Given the description of an element on the screen output the (x, y) to click on. 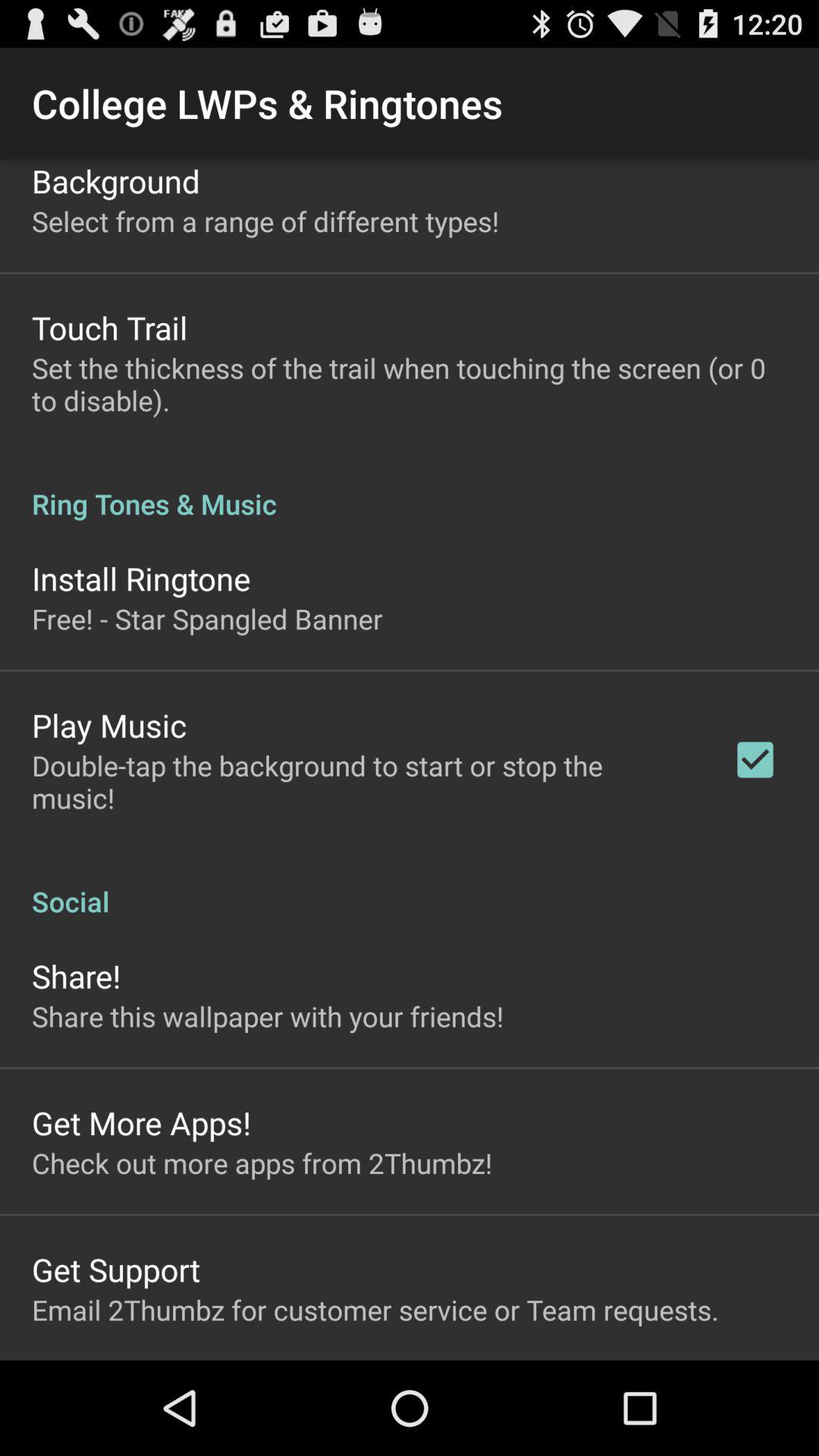
jump until ring tones & music icon (409, 487)
